Given the description of an element on the screen output the (x, y) to click on. 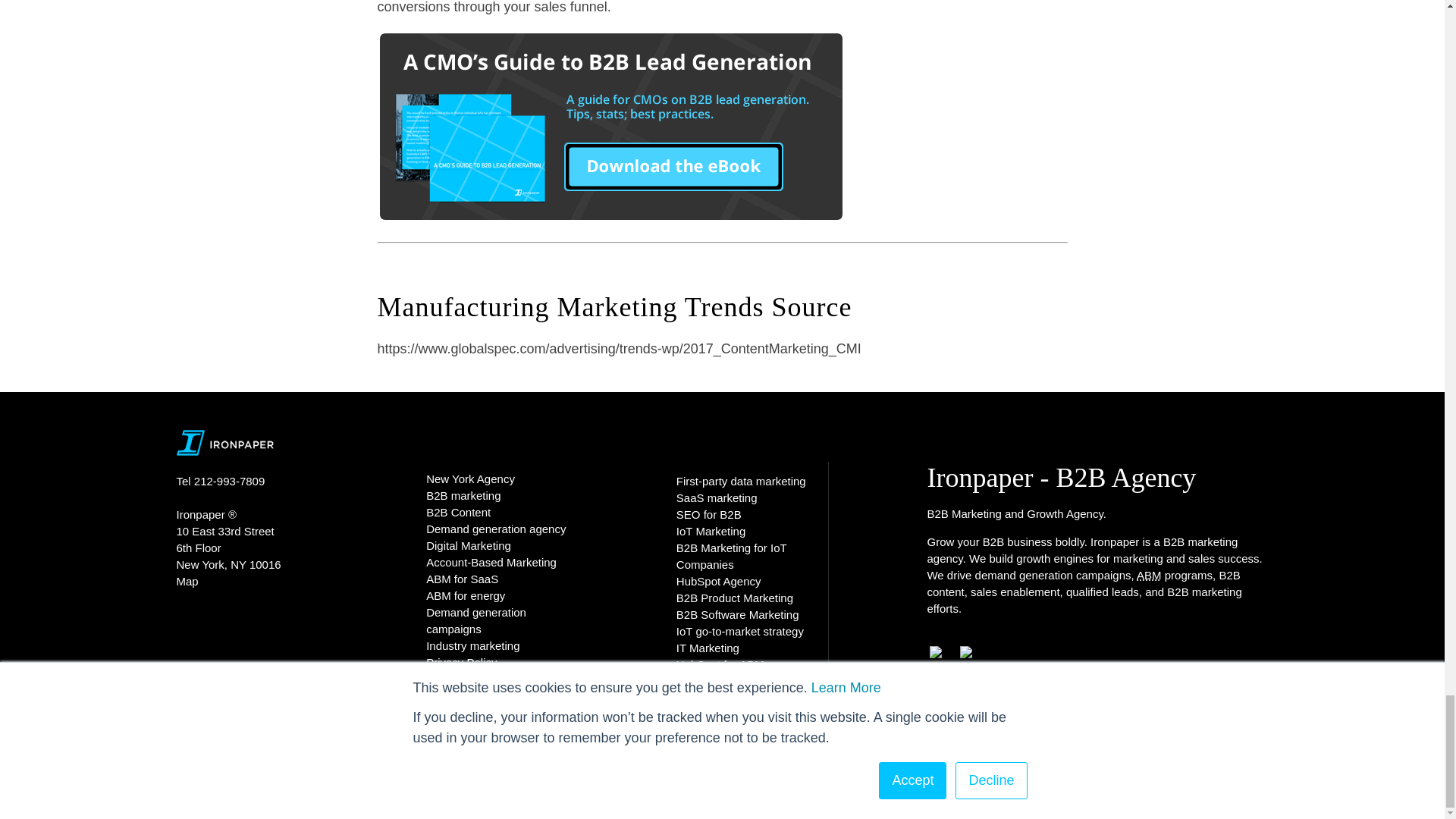
Account-based marketing (1149, 574)
